Given the description of an element on the screen output the (x, y) to click on. 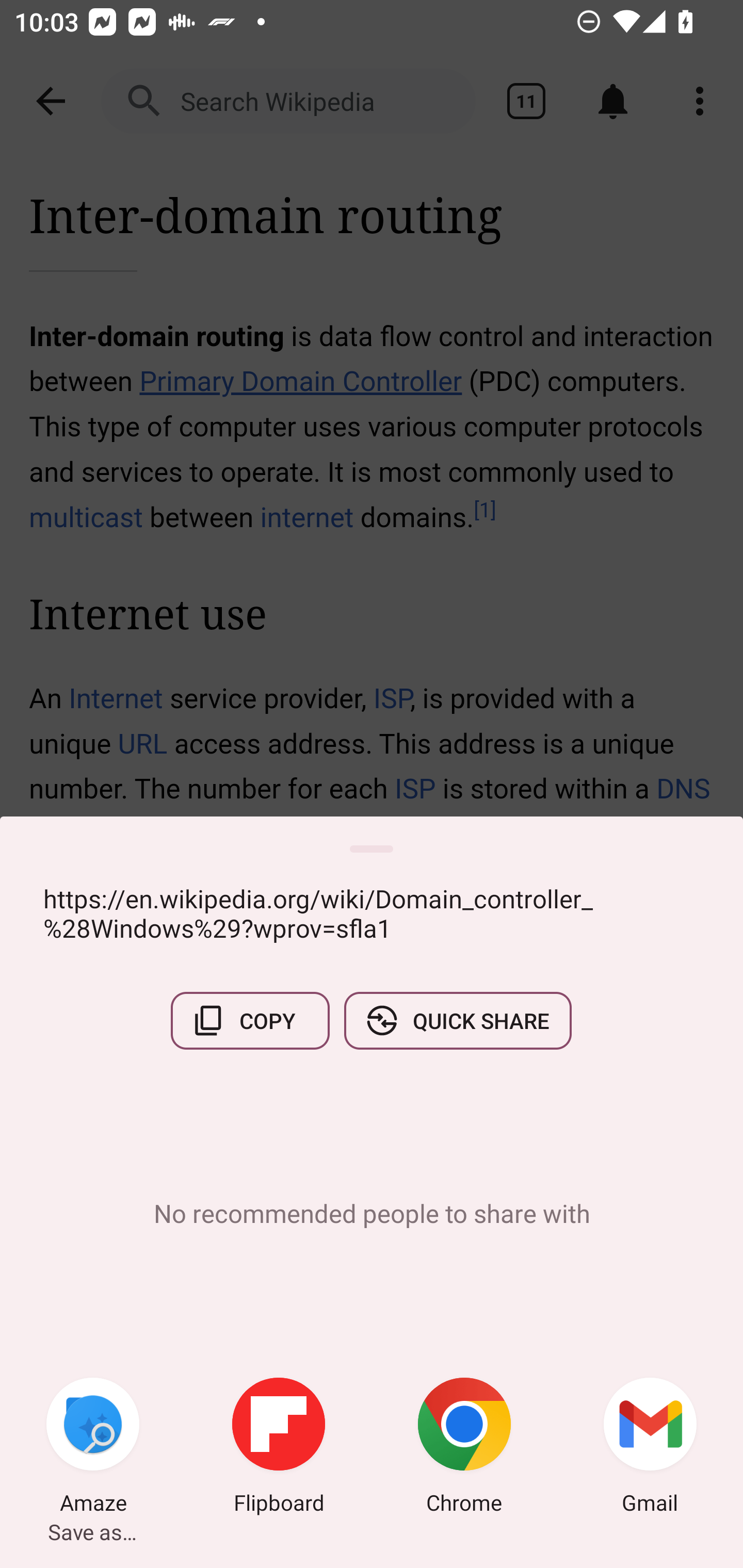
COPY (249, 1020)
QUICK SHARE (457, 1020)
Amaze Save as… (92, 1448)
Flipboard (278, 1448)
Chrome (464, 1448)
Gmail (650, 1448)
